Given the description of an element on the screen output the (x, y) to click on. 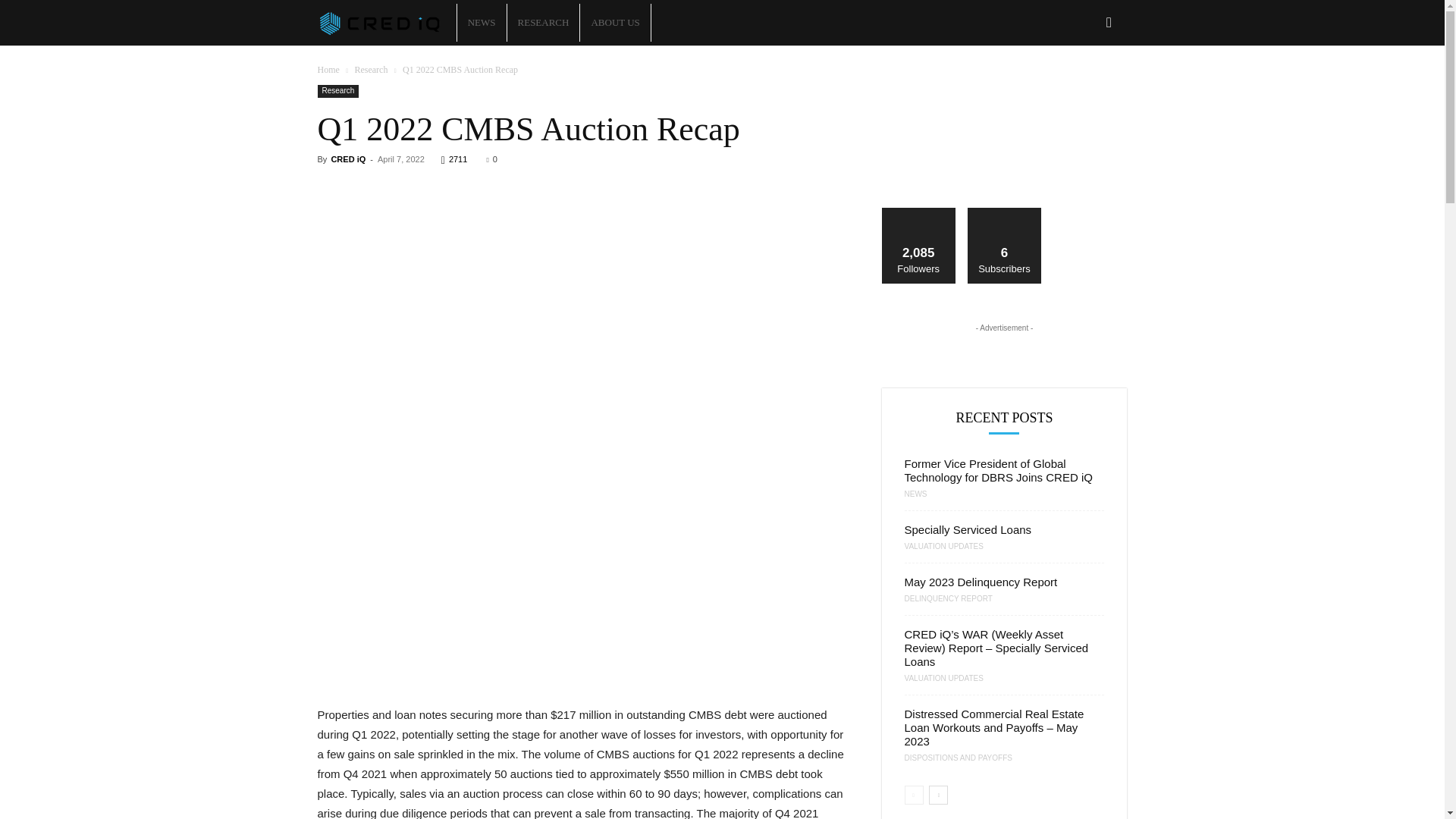
NEWS (481, 22)
ABOUT US (614, 22)
0 (491, 158)
Research (370, 69)
Search (1085, 87)
View all posts in Research (370, 69)
Home (328, 69)
Research (337, 91)
CRED iQ (347, 158)
CRED iQ Blog (386, 22)
